Given the description of an element on the screen output the (x, y) to click on. 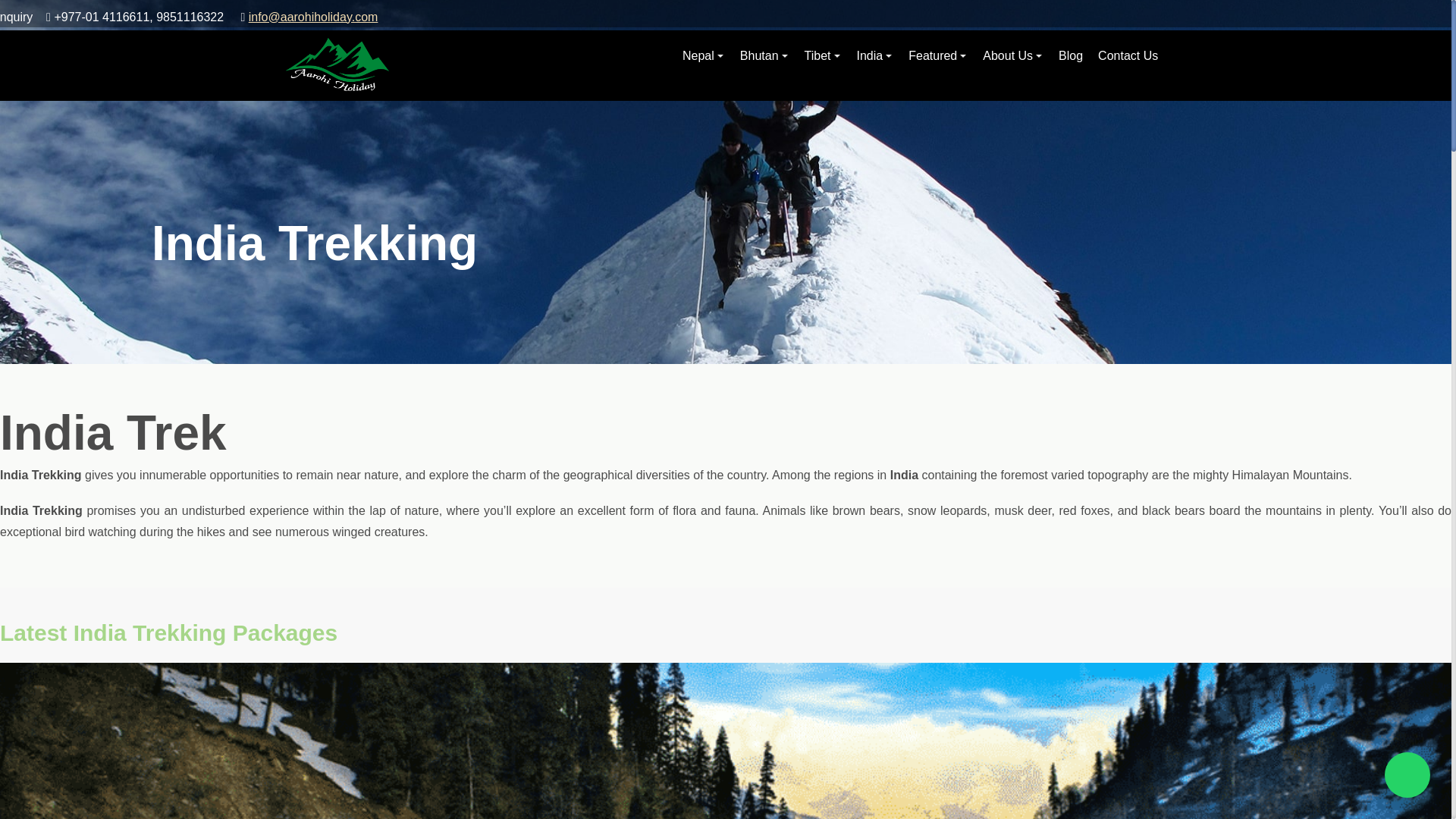
Aarohi Holiday (337, 63)
